Given the description of an element on the screen output the (x, y) to click on. 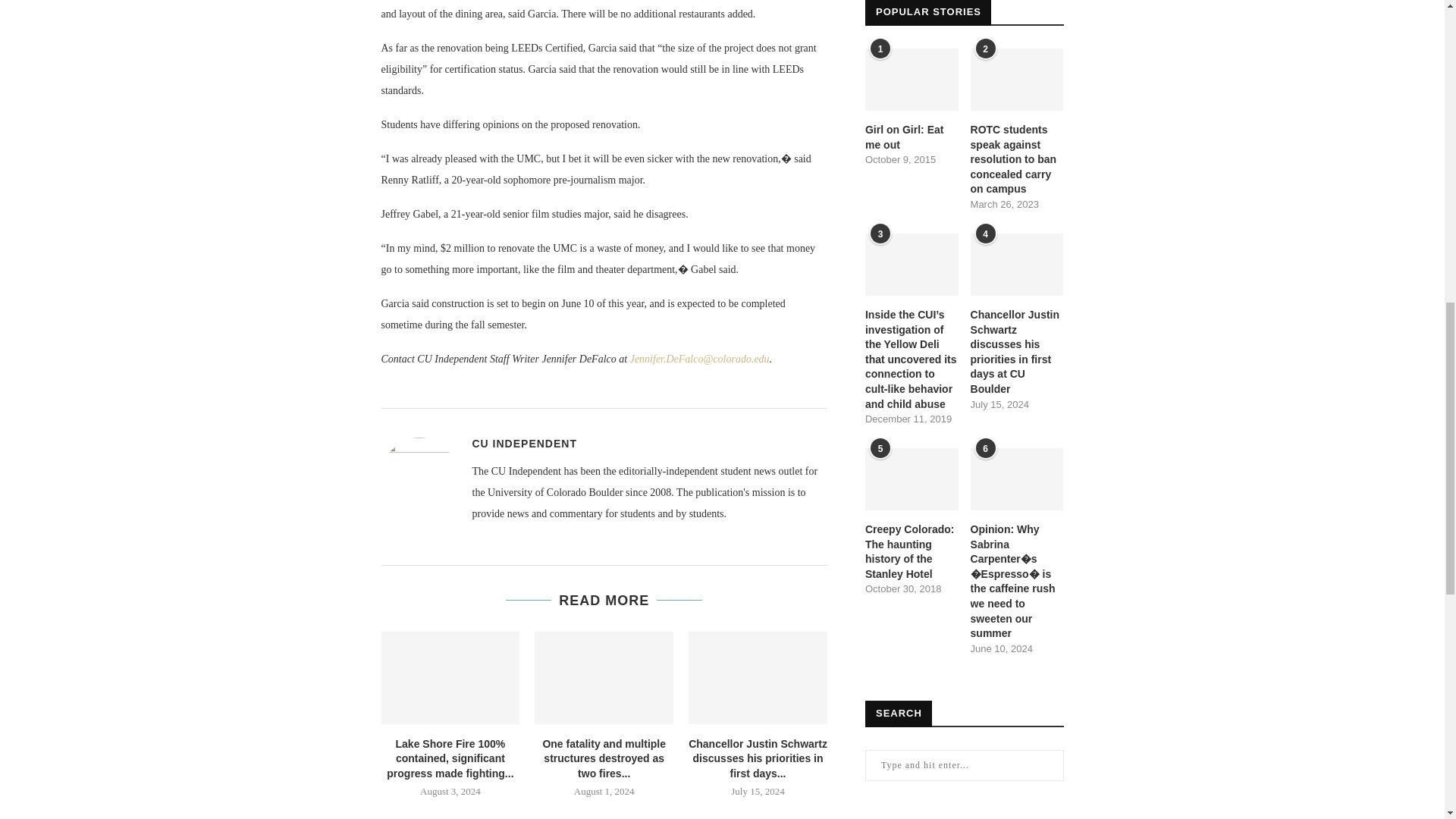
Posts by CU Independent (523, 443)
Girl on Girl: Eat me out (911, 137)
Girl on Girl: Eat me out (911, 79)
